Given the description of an element on the screen output the (x, y) to click on. 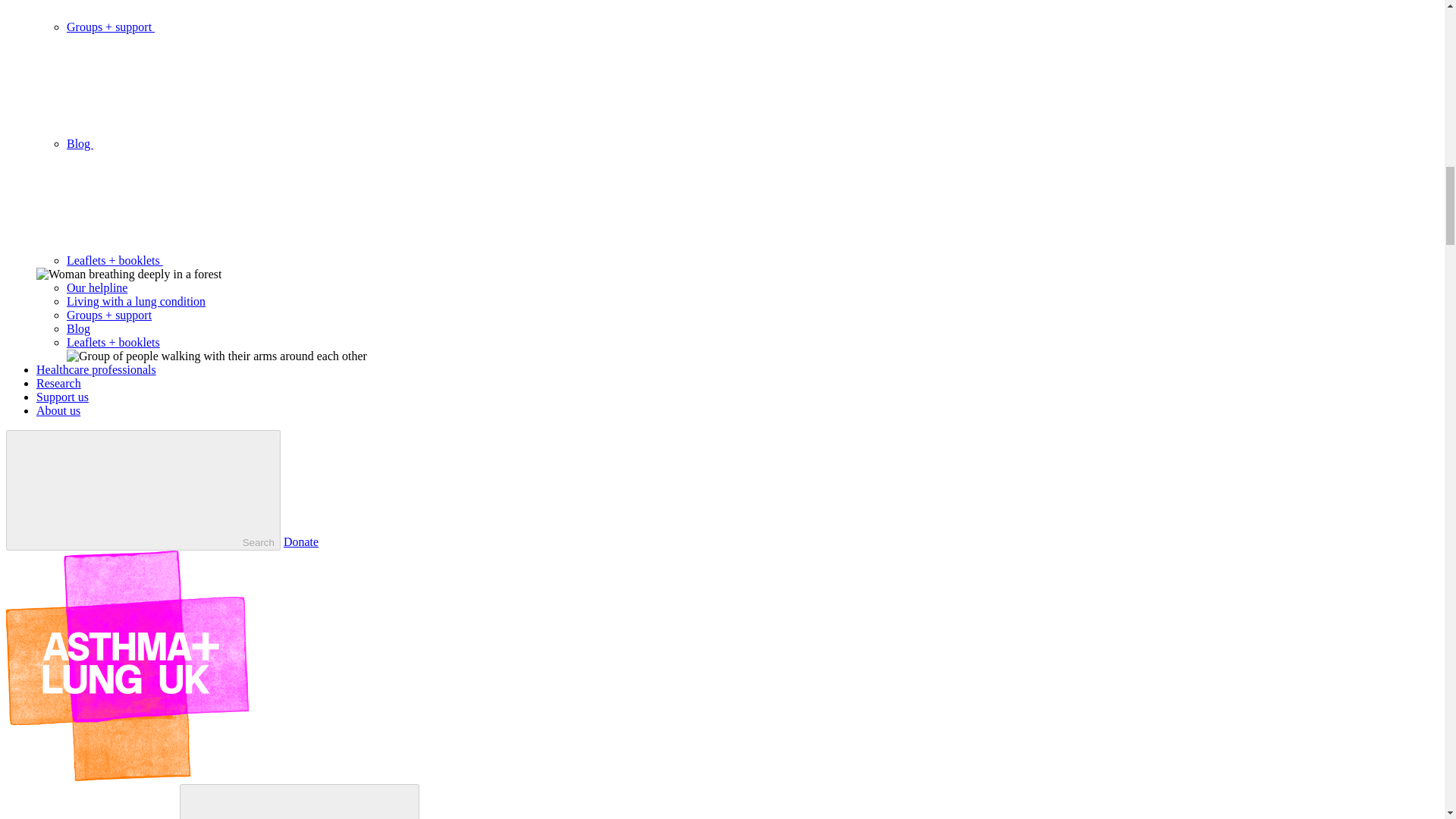
Support us (62, 396)
Leaflets and booklets about lung conditions (113, 341)
Healthcare professionals (95, 369)
Homepage (126, 776)
Living with a lung condition (135, 300)
Research (58, 382)
Blog (193, 143)
About us (58, 410)
Donate (300, 541)
Submit (299, 801)
